Given the description of an element on the screen output the (x, y) to click on. 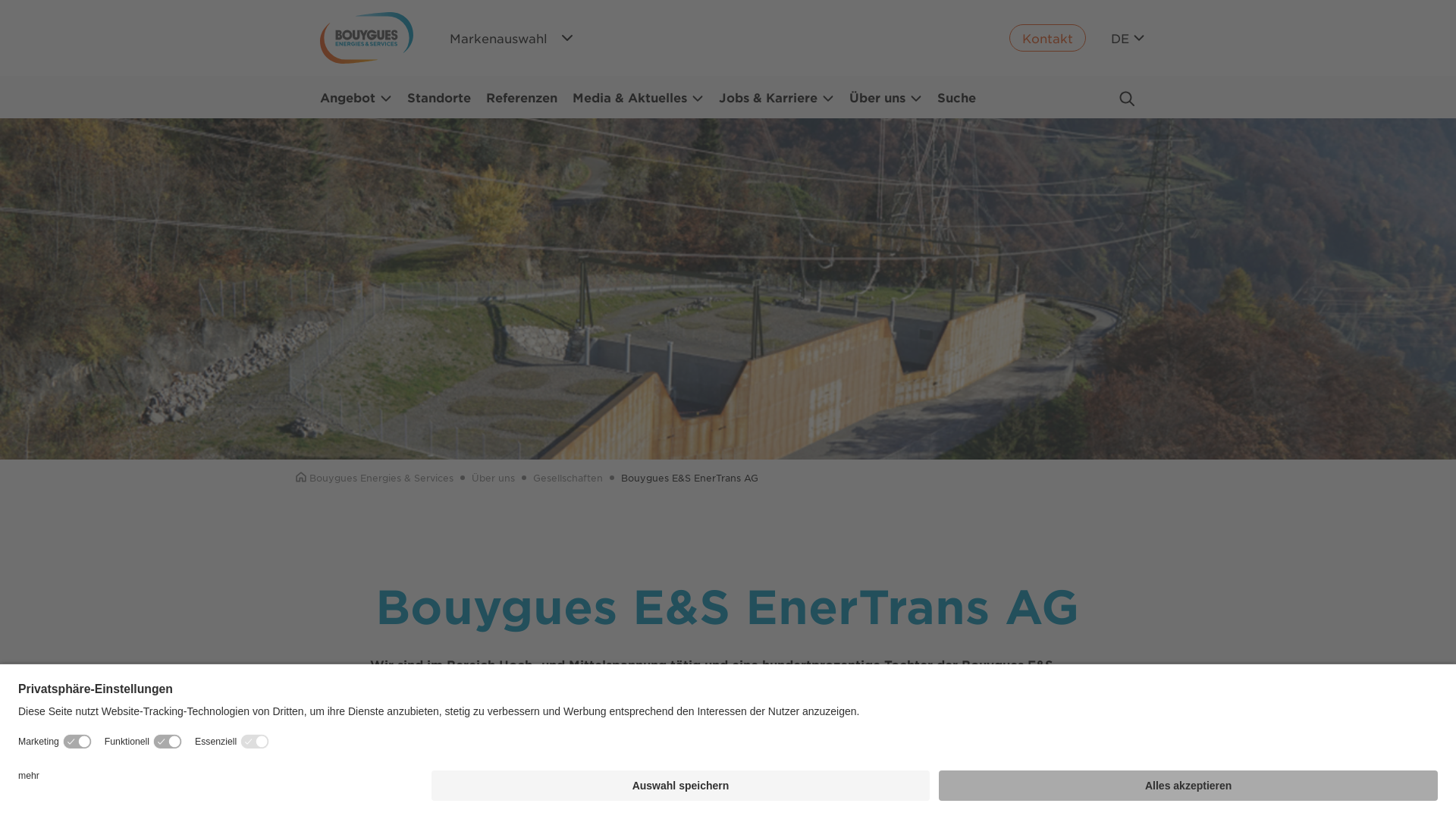
Jobs & Karriere Element type: text (776, 96)
Markenauswahl Element type: text (512, 37)
Angebot Element type: text (356, 96)
Bouygues Energies & Services Element type: text (374, 477)
Standorte Element type: text (438, 96)
Referenzen Element type: text (521, 96)
Media & Aktuelles Element type: text (637, 96)
Suche Element type: text (956, 96)
Kontakt Element type: text (1047, 37)
Gesellschaften Element type: text (567, 477)
